Given the description of an element on the screen output the (x, y) to click on. 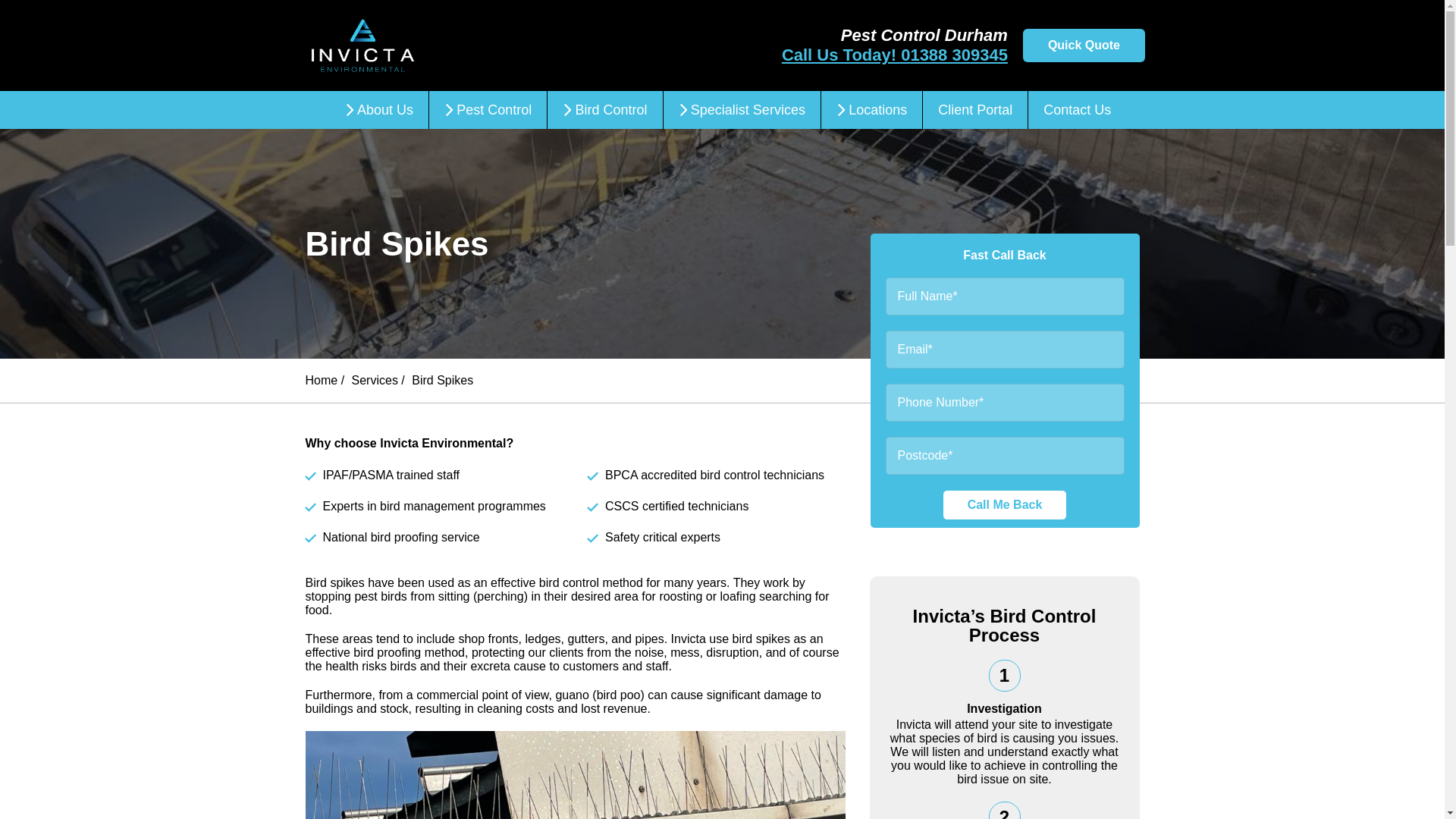
Locations (871, 109)
Bird Control (604, 109)
About Us (379, 109)
Quick Quote (1083, 45)
Call Us Today! 01388 309345 (894, 55)
Pest Control (488, 109)
Specialist Services (742, 109)
